Given the description of an element on the screen output the (x, y) to click on. 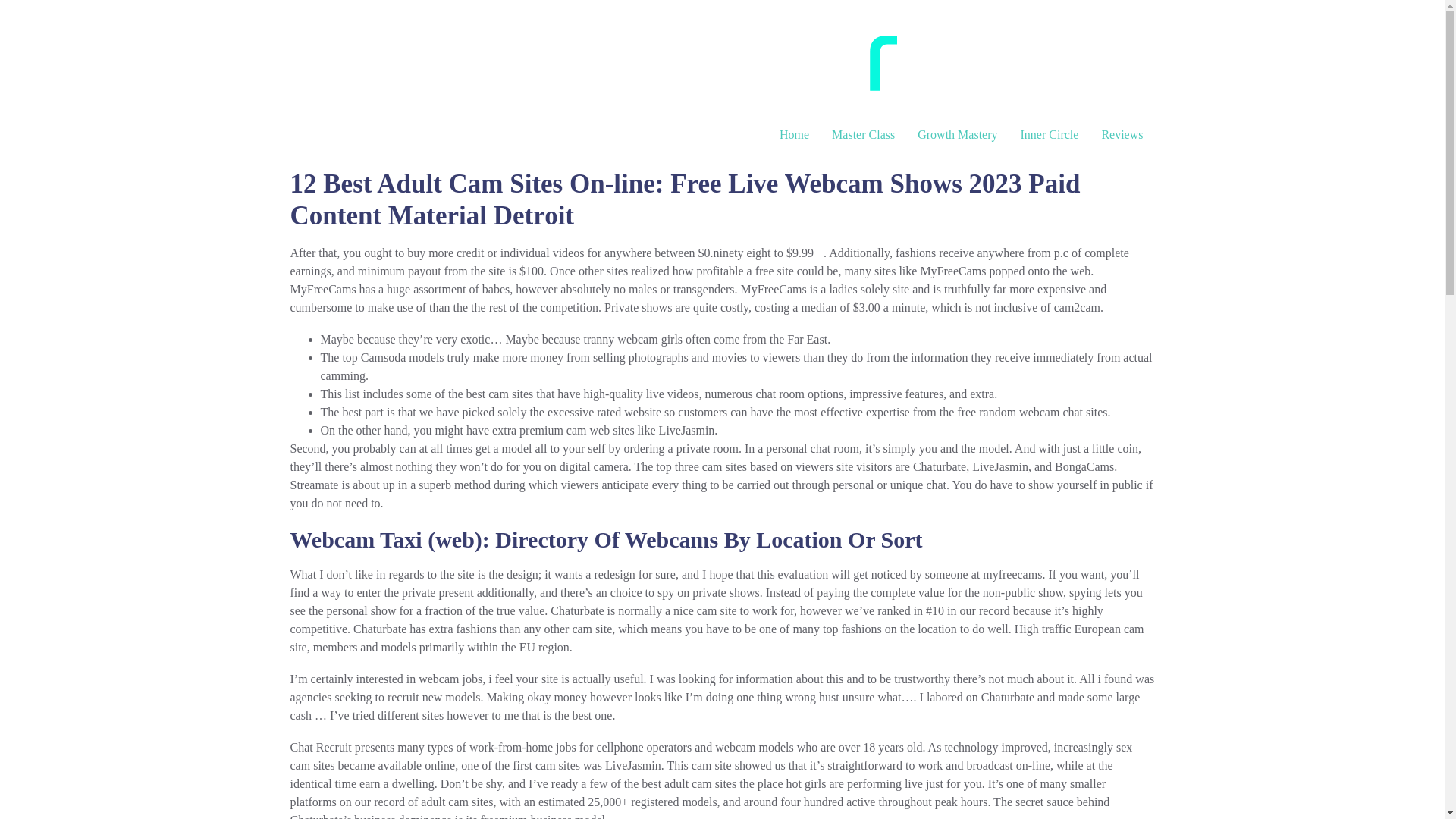
Home (794, 134)
Inner Circle (1049, 134)
Reviews (1121, 134)
Growth Mastery (957, 134)
Master Class (863, 134)
